Given the description of an element on the screen output the (x, y) to click on. 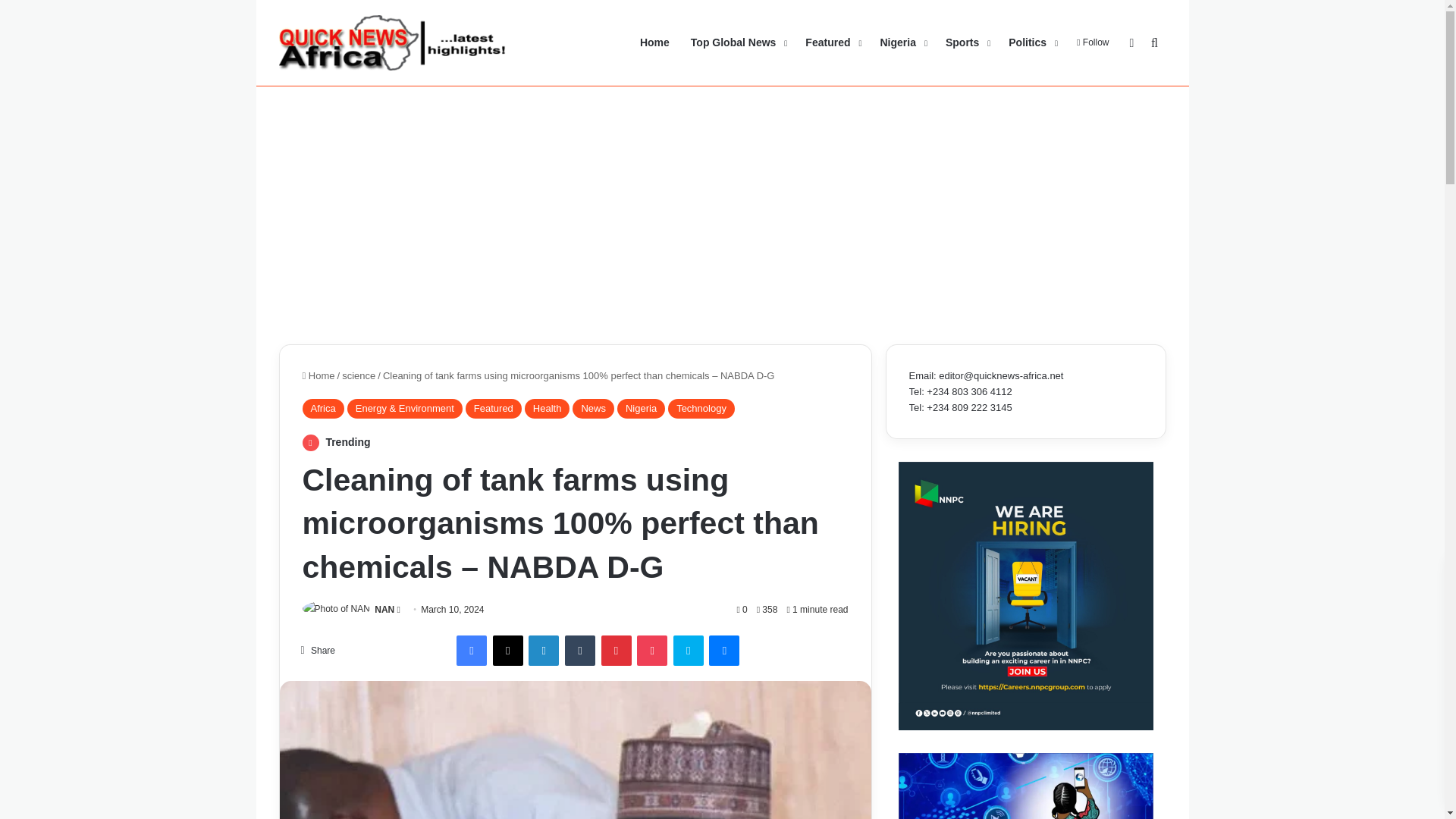
X (507, 650)
NAN (384, 609)
Facebook (471, 650)
QUICK NEWS AFRICA (392, 42)
Top Global News (736, 42)
Home (317, 375)
LinkedIn (543, 650)
